Given the description of an element on the screen output the (x, y) to click on. 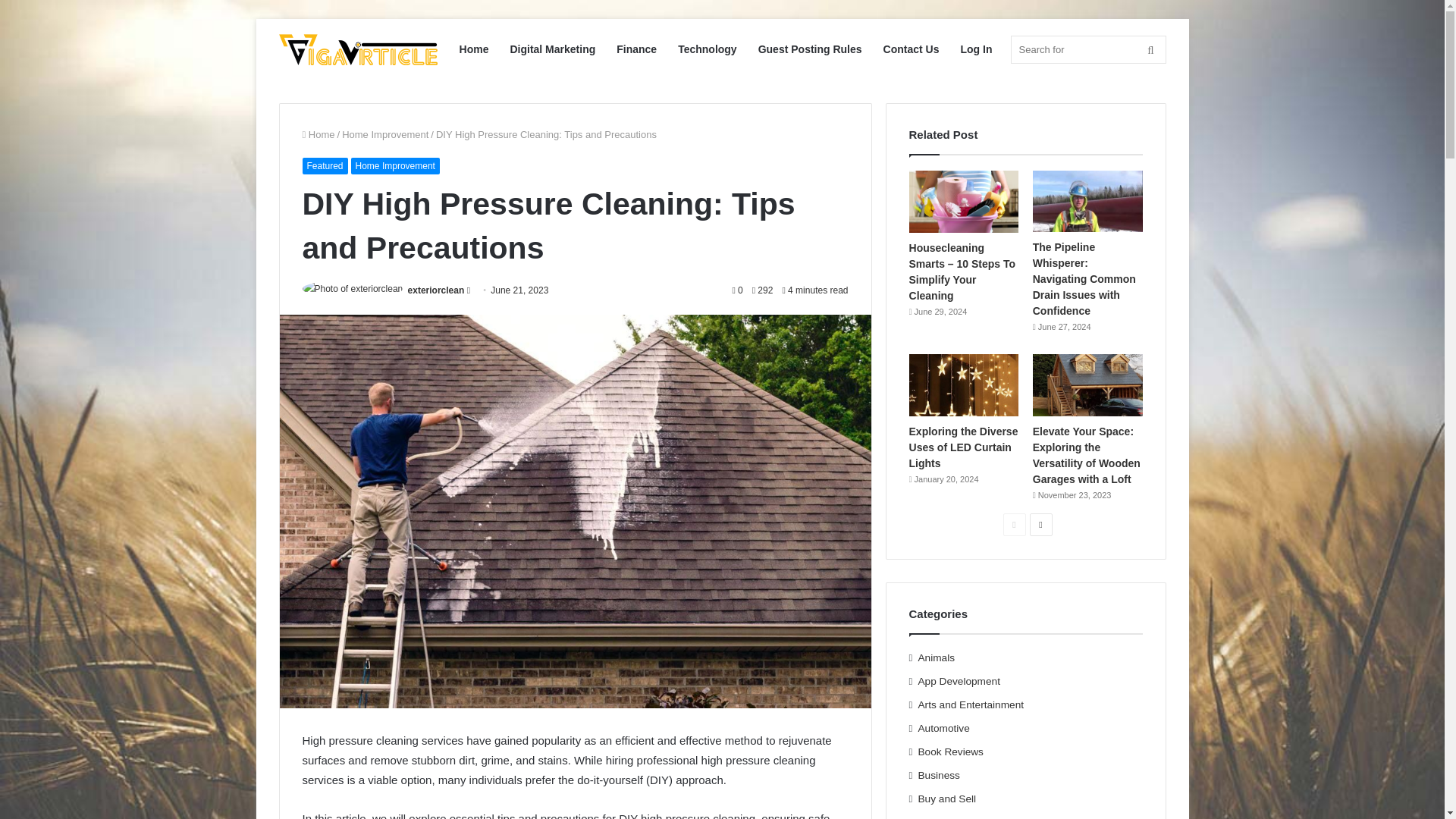
Digital Marketing (552, 49)
exteriorclean (435, 290)
Home Improvement (385, 134)
Contact Us (911, 49)
Home Improvement (394, 166)
Featured (324, 166)
Finance (635, 49)
Guest Posting Rules (810, 49)
Technology (707, 49)
Search for (1088, 49)
exteriorclean (435, 290)
Giga Article (358, 49)
Home (317, 134)
